Given the description of an element on the screen output the (x, y) to click on. 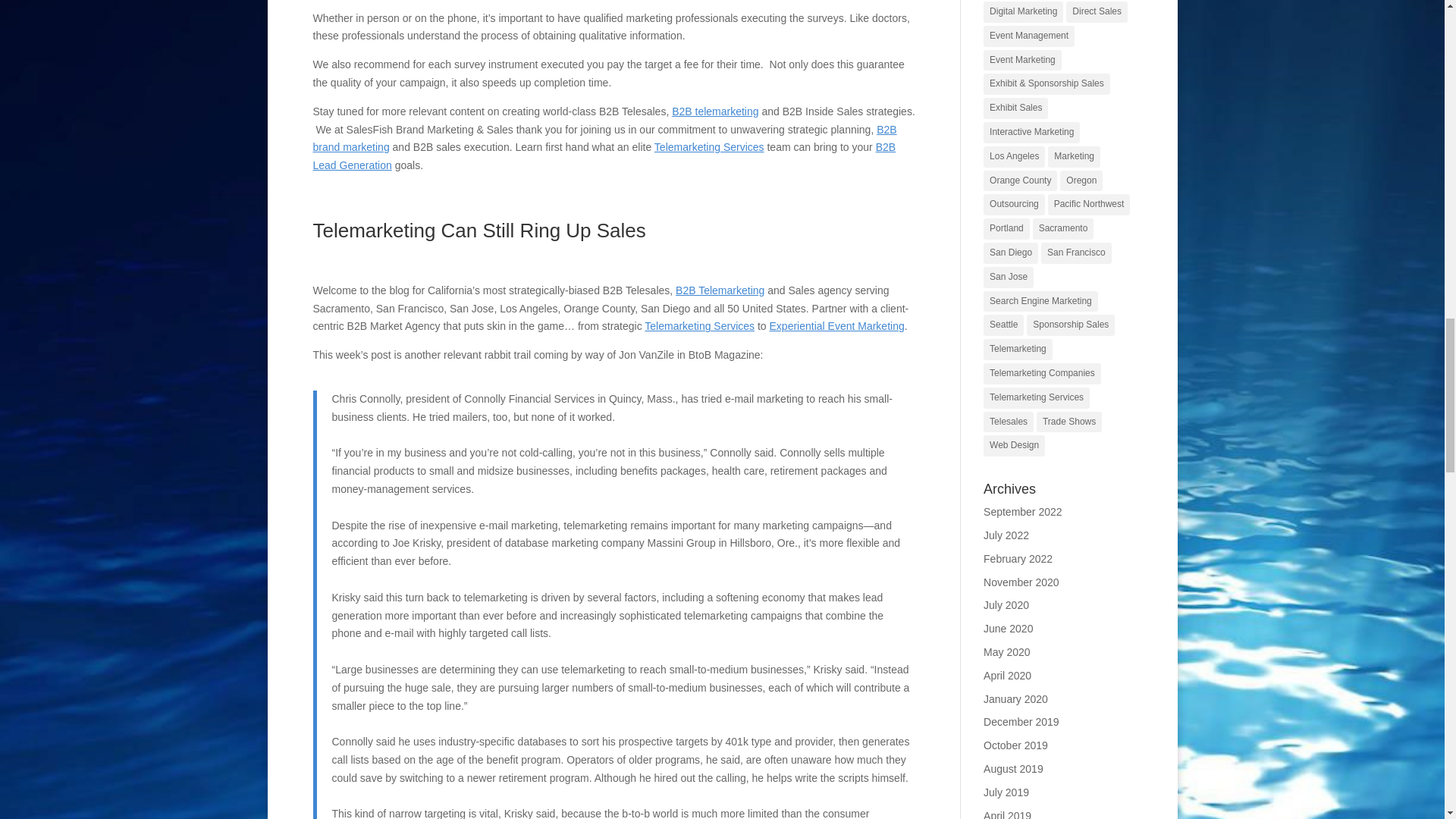
B2B Lead Generation (604, 155)
B2B Brand Marketing (604, 138)
Telemarketing Services (708, 146)
B2B Telemarketing (714, 111)
